Given the description of an element on the screen output the (x, y) to click on. 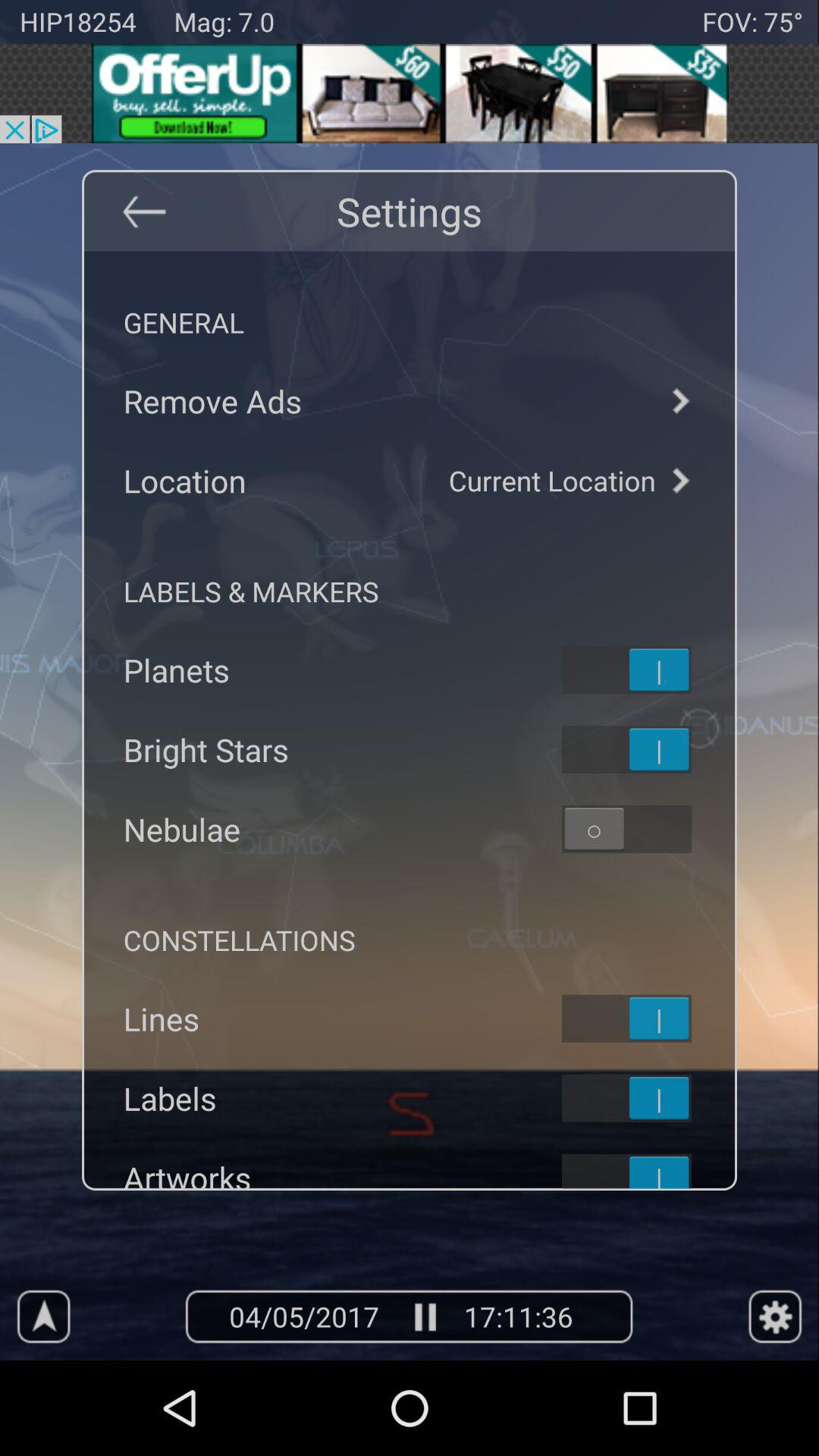
constellations lines (646, 1018)
